Given the description of an element on the screen output the (x, y) to click on. 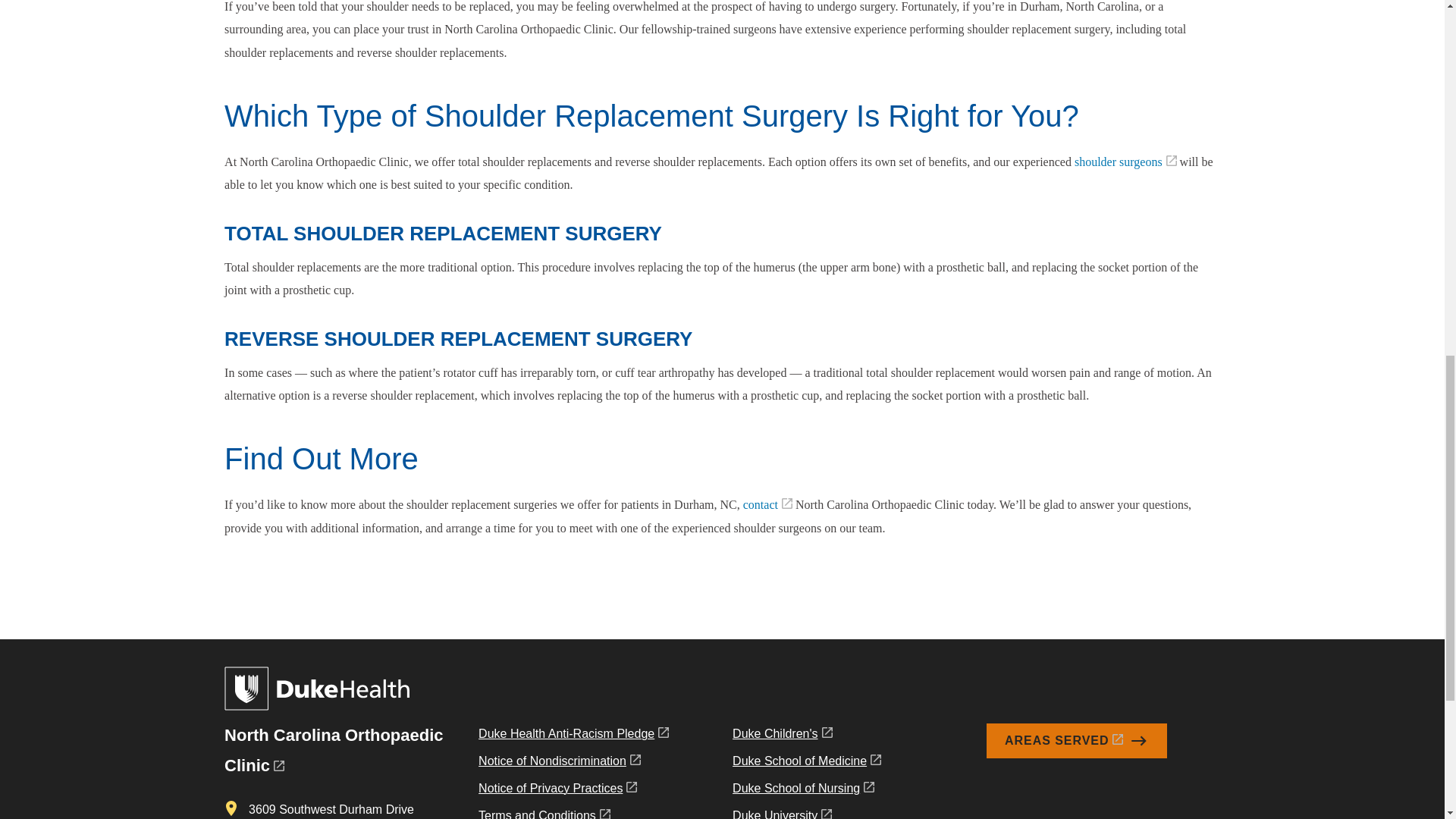
North Carolina Orthopaedic Clinic (333, 749)
Duke School of Nursing (806, 791)
Duke School of Medicine (806, 764)
AREAS SERVED (1077, 740)
Duke Children's (806, 737)
Duke Health Anti-Racism Pledge (573, 737)
shoulder surgeons (1125, 161)
Notice of Nondiscrimination (573, 764)
contact (767, 504)
Notice of Privacy Practices (573, 791)
